Given the description of an element on the screen output the (x, y) to click on. 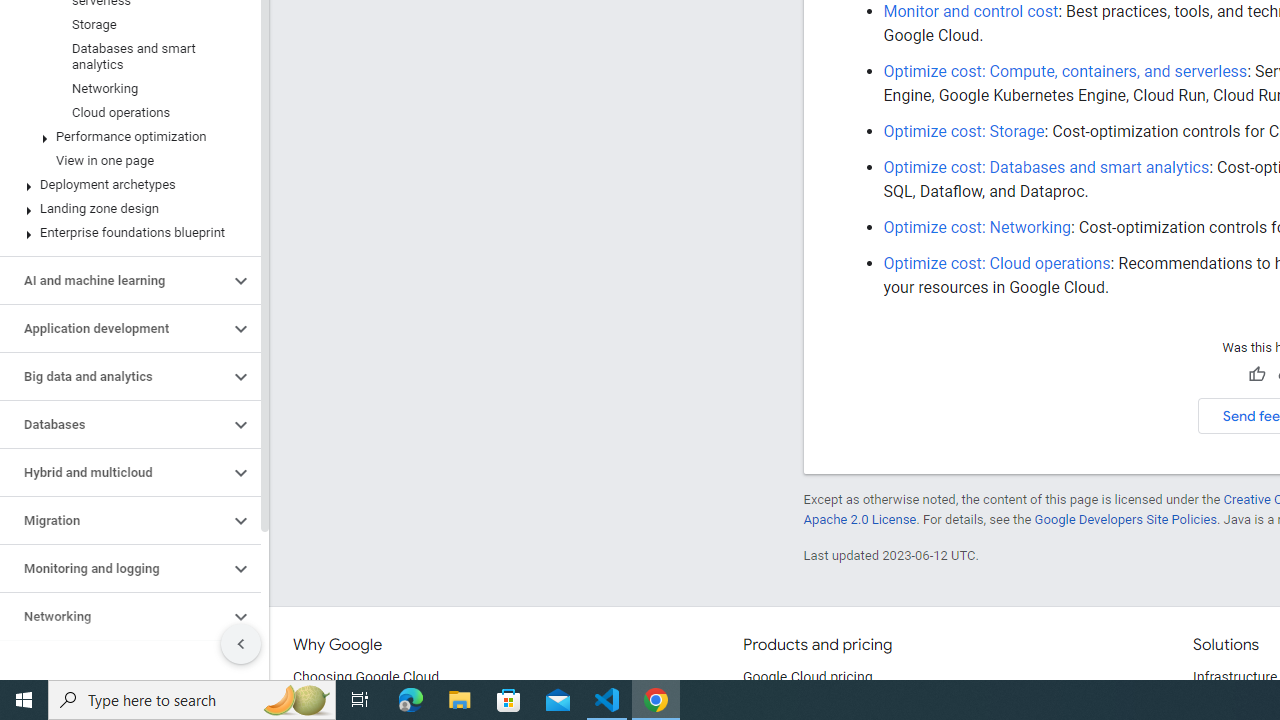
Monitor and control cost (970, 11)
